Given the description of an element on the screen output the (x, y) to click on. 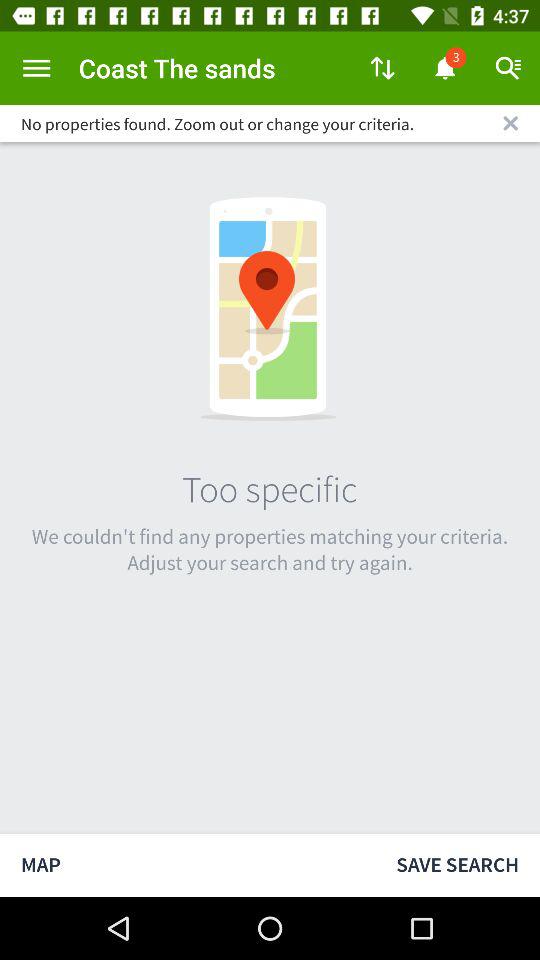
turn off icon to the right of the no properties found (510, 123)
